Given the description of an element on the screen output the (x, y) to click on. 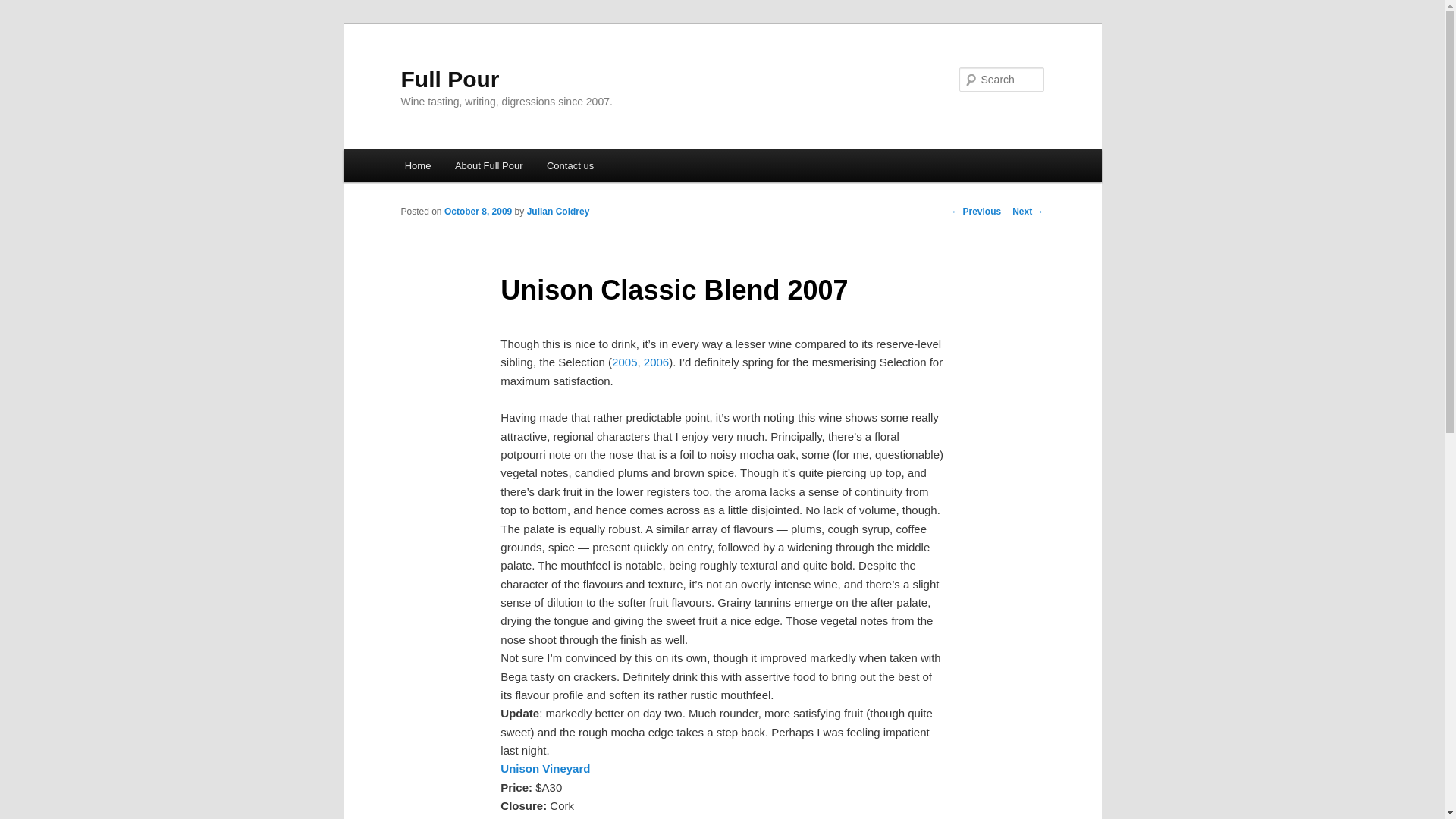
Full Pour (449, 78)
Julian Coldrey (558, 211)
About Full Pour (488, 165)
Home (417, 165)
Unison Vineyard (544, 768)
October 8, 2009 (478, 211)
View all posts by Julian Coldrey (558, 211)
Search (24, 8)
2005 (624, 361)
